Given the description of an element on the screen output the (x, y) to click on. 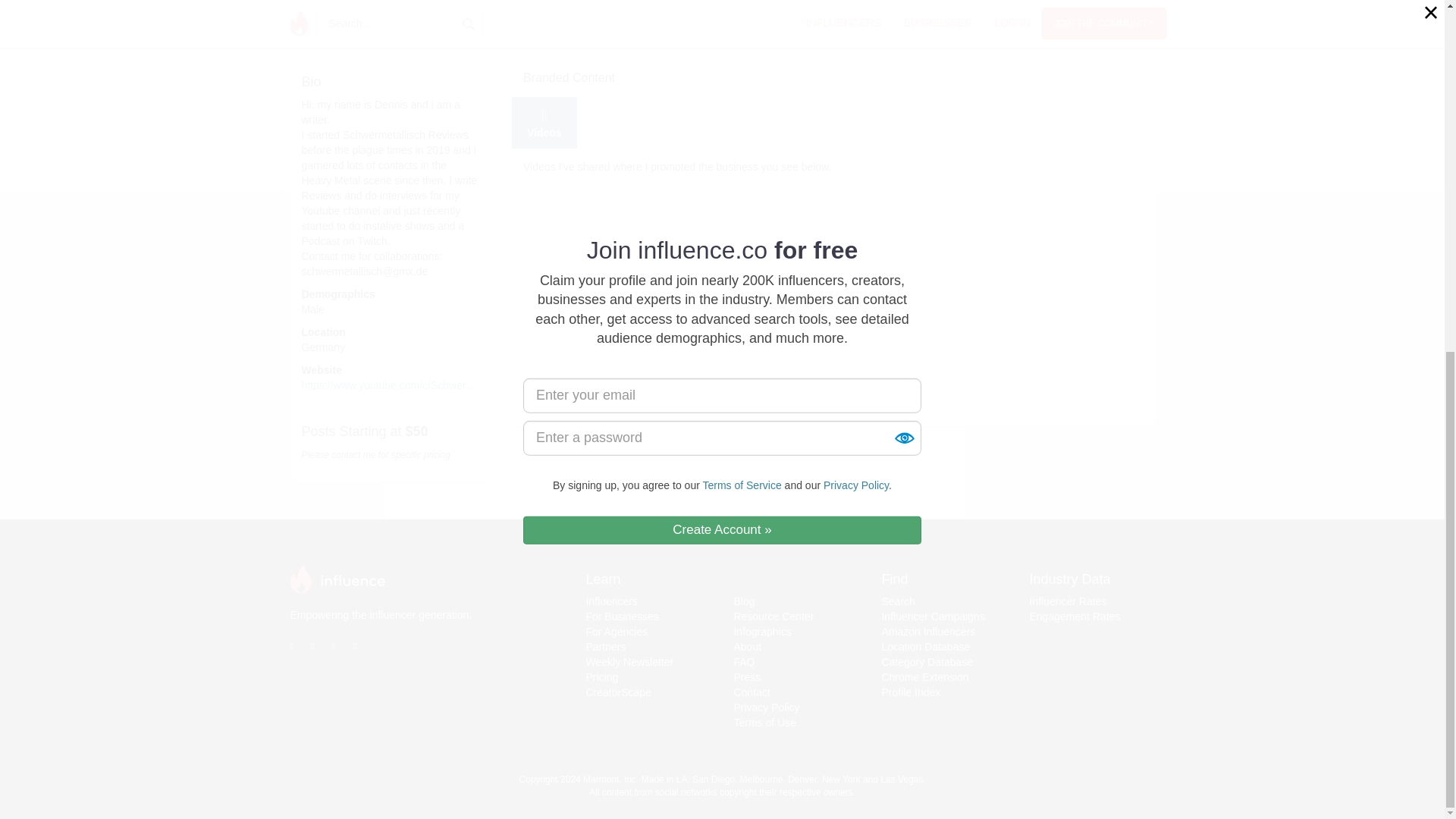
Check Out My YouTube Channel (614, 397)
Videos (544, 123)
